Given the description of an element on the screen output the (x, y) to click on. 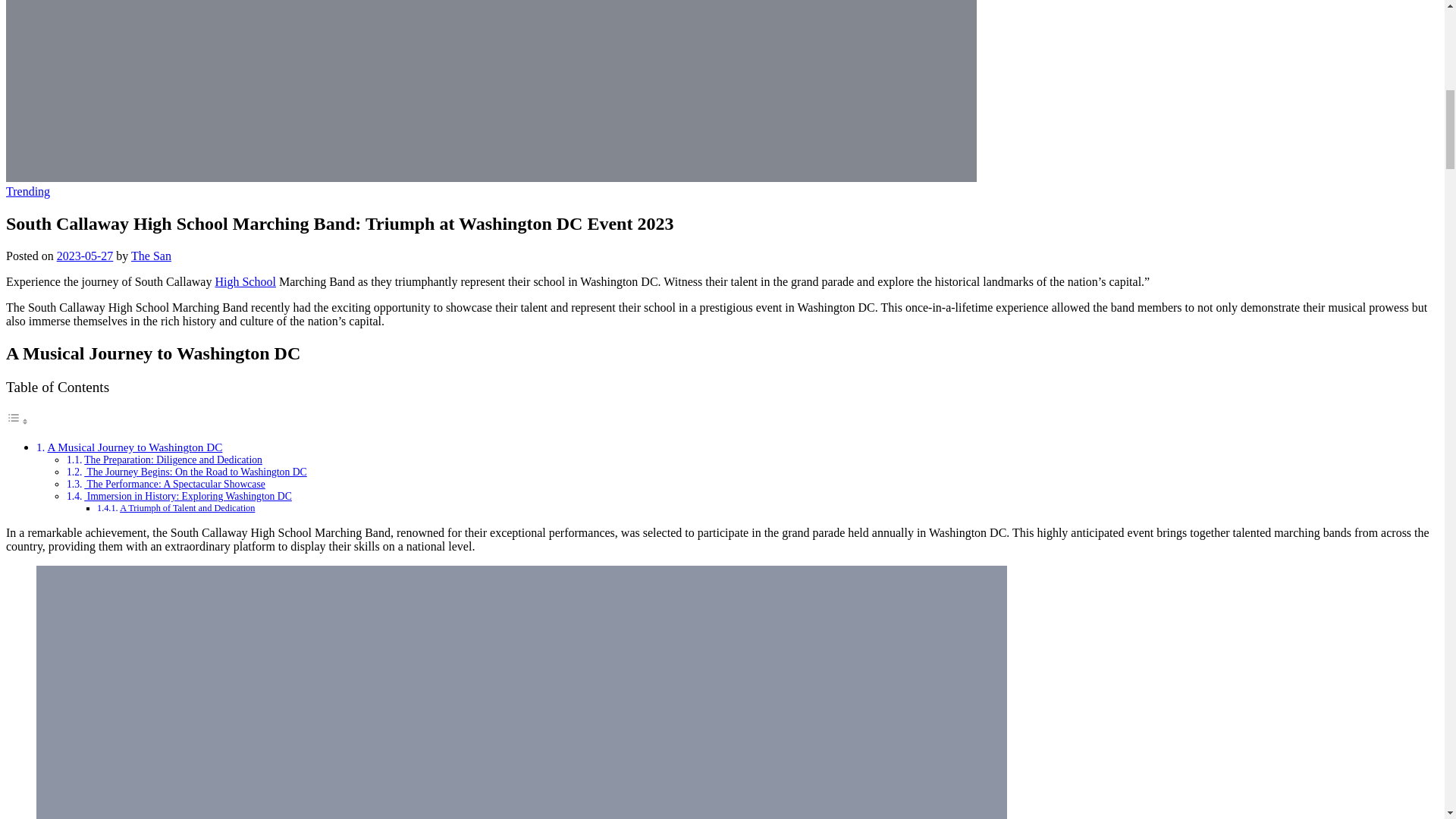
The Preparation: Diligence and Dedication (173, 460)
The San (151, 255)
High School (244, 281)
A Musical Journey to Washington DC (134, 446)
Trending (27, 191)
 The Performance: A Spectacular Showcase (174, 483)
 The Journey Begins: On the Road to Washington DC (194, 471)
The Preparation: Diligence and Dedication (173, 460)
A Triumph of Talent and Dedication (186, 507)
